Given the description of an element on the screen output the (x, y) to click on. 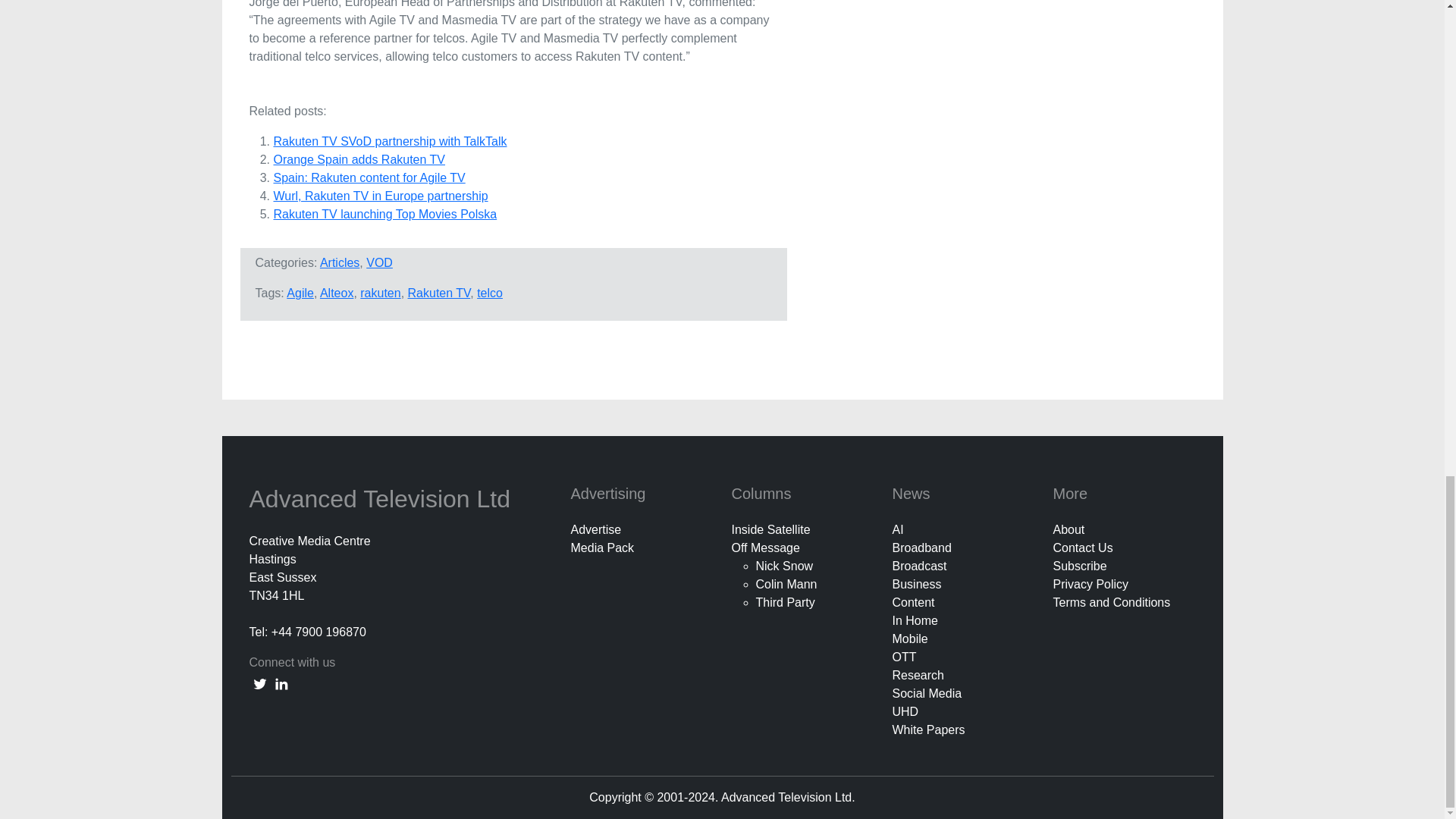
Rakuten TV launching Top Movies Polska (384, 214)
Orange Spain adds Rakuten TV (359, 159)
VOD (379, 262)
Spain: Rakuten content for Agile TV (368, 177)
Orange Spain adds Rakuten TV (359, 159)
Agile (300, 292)
Alteox (336, 292)
Rakuten TV SVoD partnership with TalkTalk (389, 141)
Wurl, Rakuten TV in Europe partnership (380, 195)
Rakuten TV SVoD partnership with TalkTalk (389, 141)
Articles (339, 262)
Spain: Rakuten content for Agile TV (368, 177)
Wurl, Rakuten TV in Europe partnership (380, 195)
rakuten (379, 292)
Rakuten TV launching Top Movies Polska (384, 214)
